Given the description of an element on the screen output the (x, y) to click on. 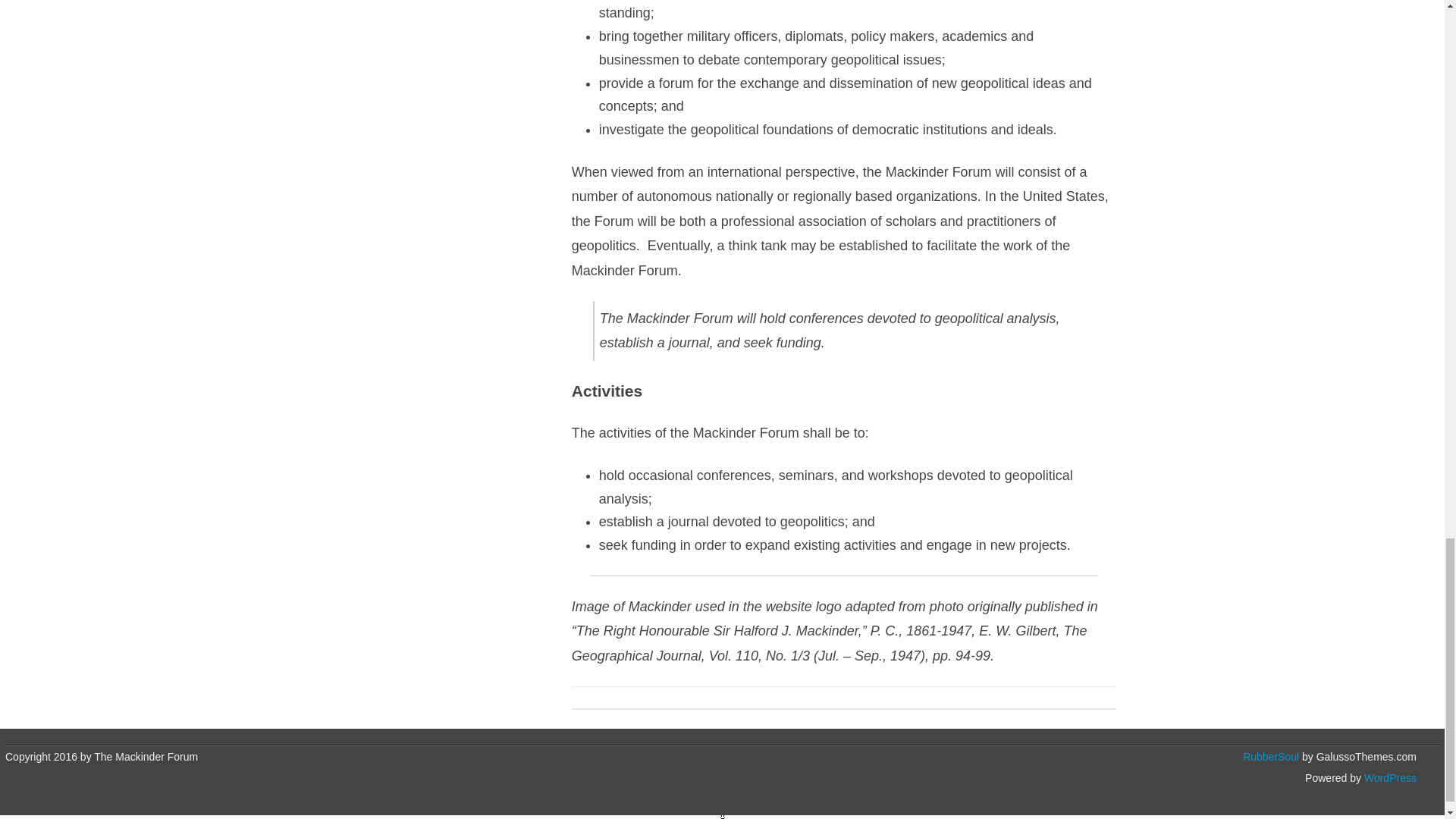
WordPress (1388, 777)
Semantic Personal Publishing Platform (1388, 777)
RubberSoul (1270, 756)
